Given the description of an element on the screen output the (x, y) to click on. 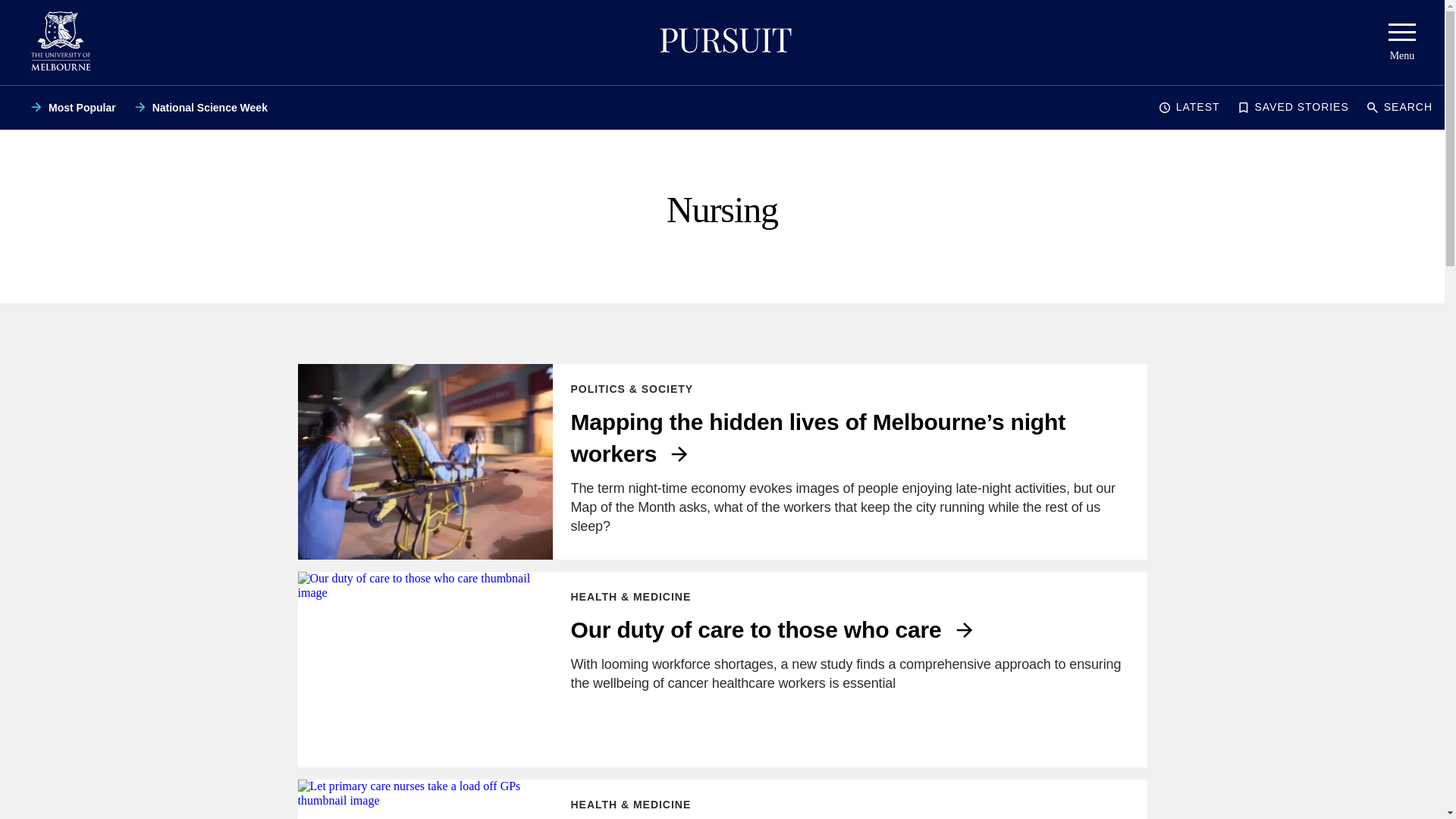
SEARCH (1399, 107)
SAVED STORIES (1292, 107)
National Science Week (200, 107)
Most Popular (73, 107)
LATEST (1189, 107)
